Given the description of an element on the screen output the (x, y) to click on. 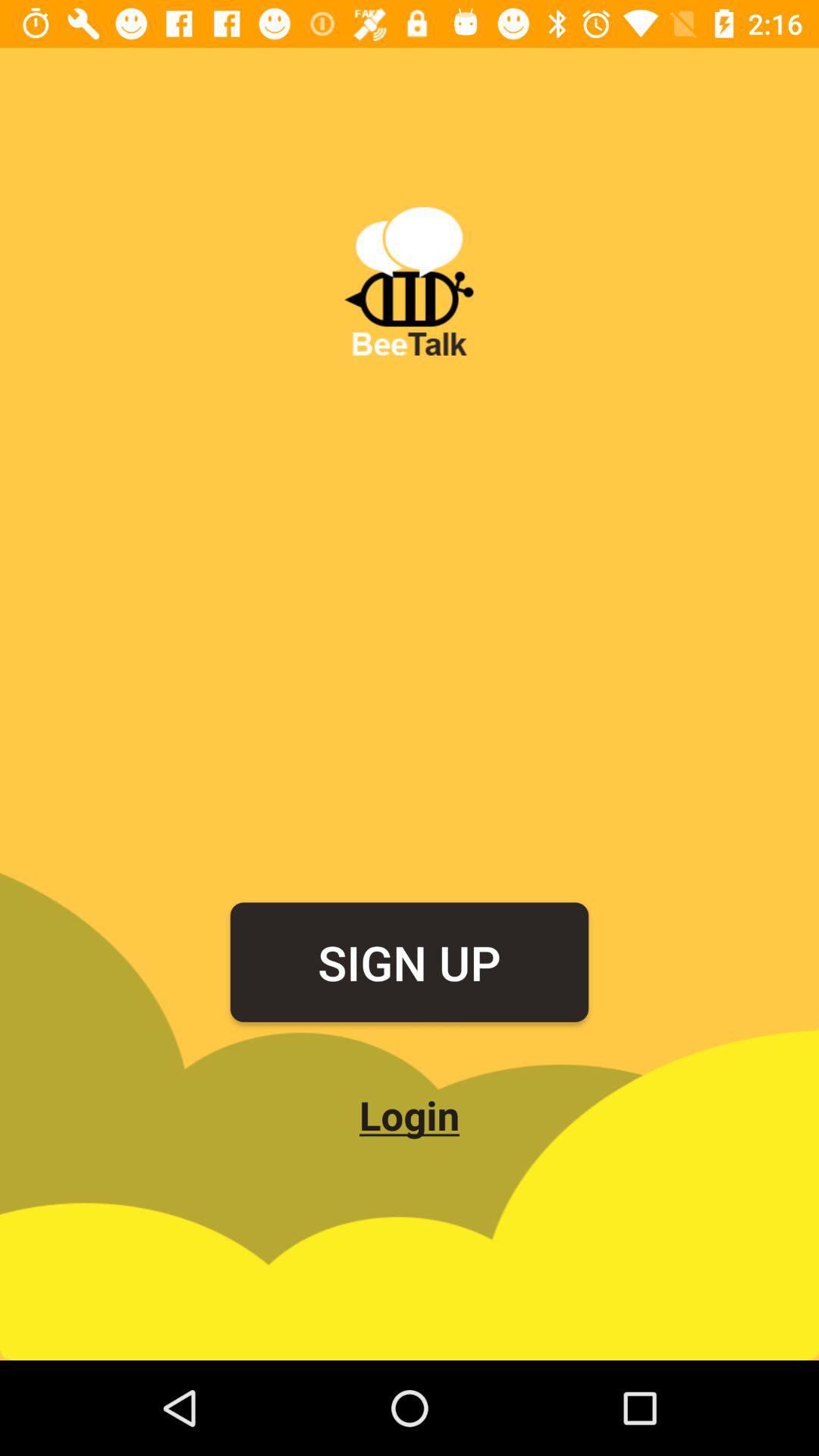
select item at the center (409, 962)
